Given the description of an element on the screen output the (x, y) to click on. 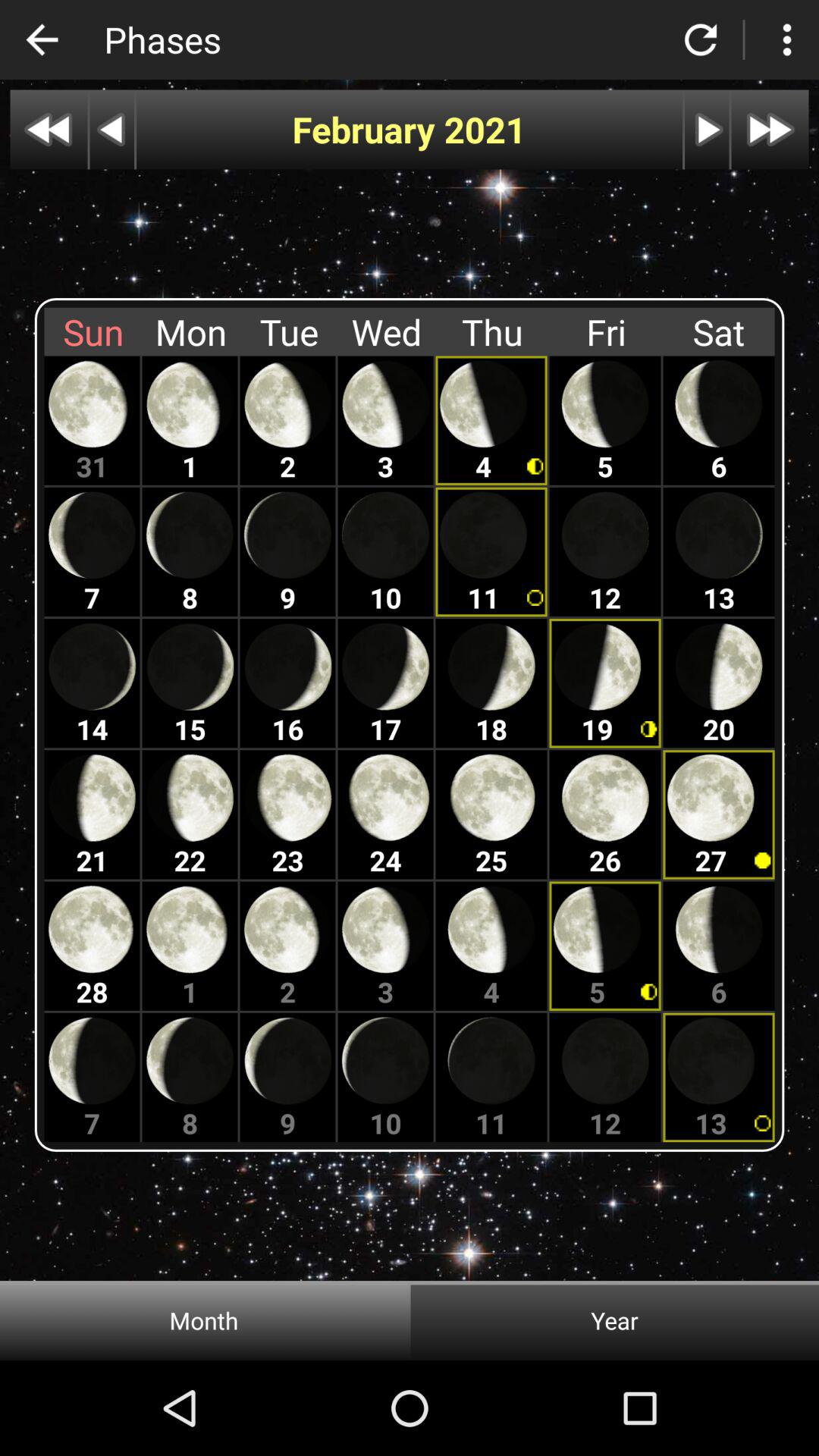
go back (41, 39)
